Given the description of an element on the screen output the (x, y) to click on. 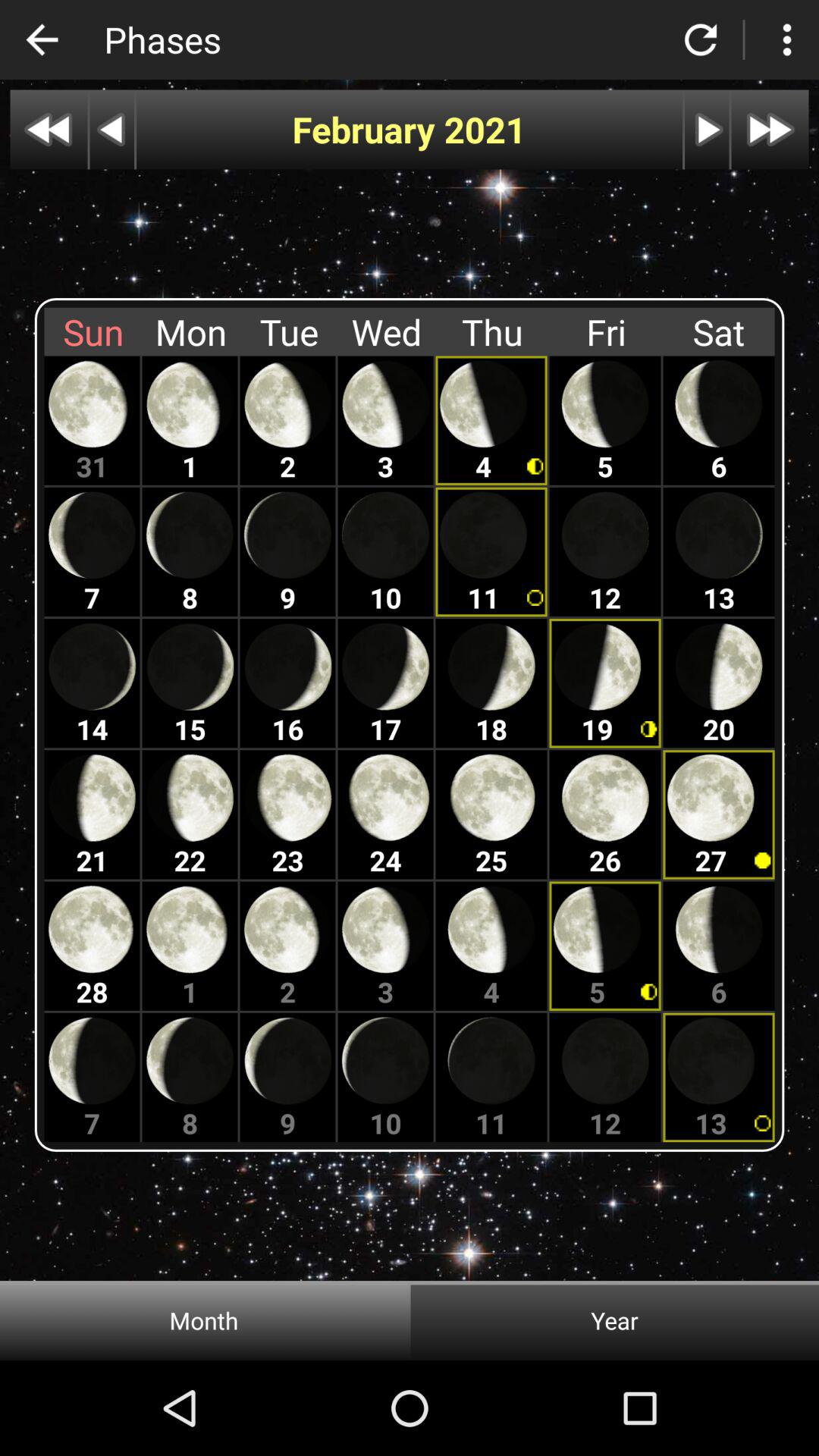
go back (41, 39)
